Given the description of an element on the screen output the (x, y) to click on. 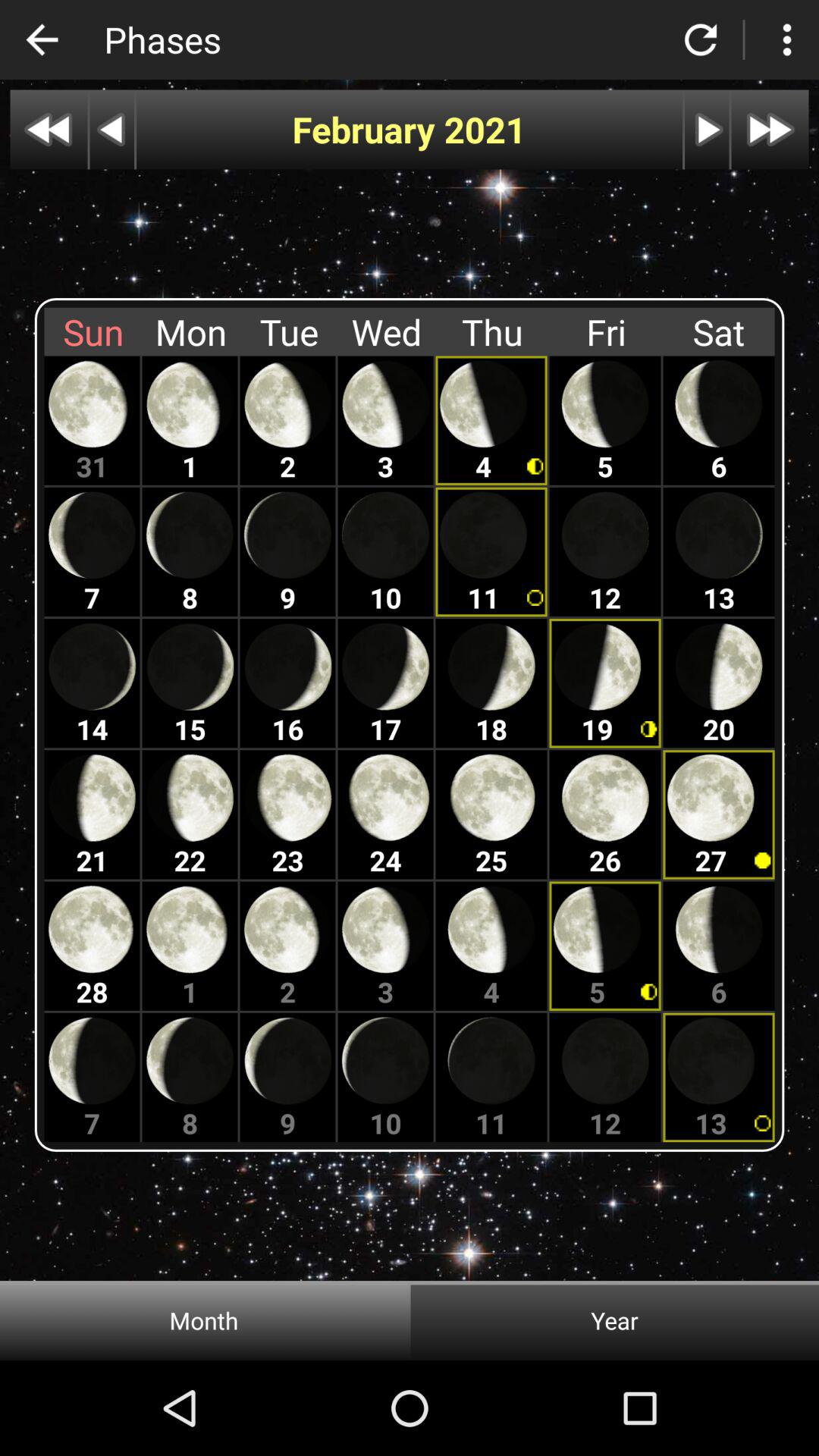
go back (41, 39)
